Given the description of an element on the screen output the (x, y) to click on. 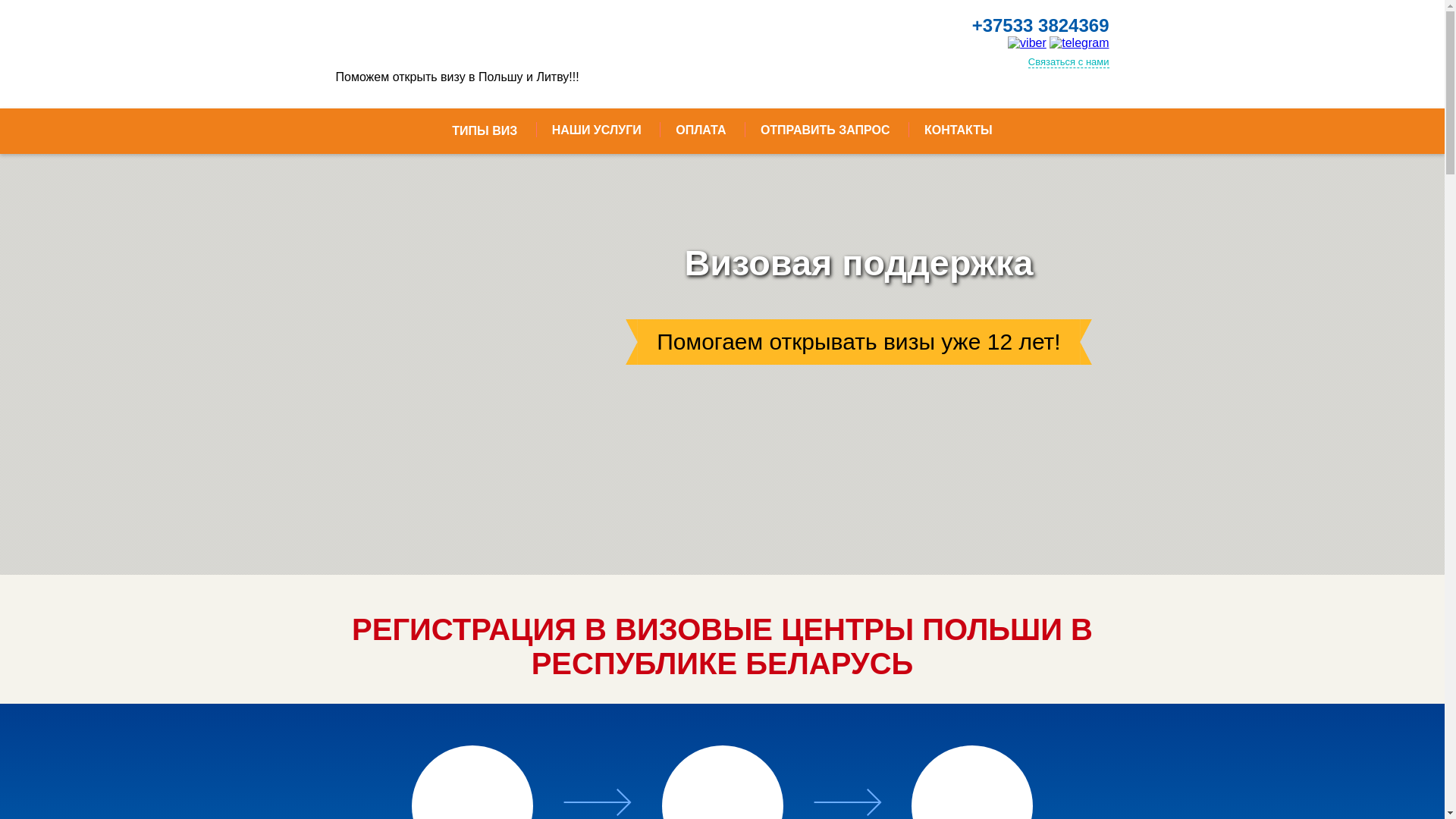
+37533 3824369 Element type: text (1040, 25)
